Given the description of an element on the screen output the (x, y) to click on. 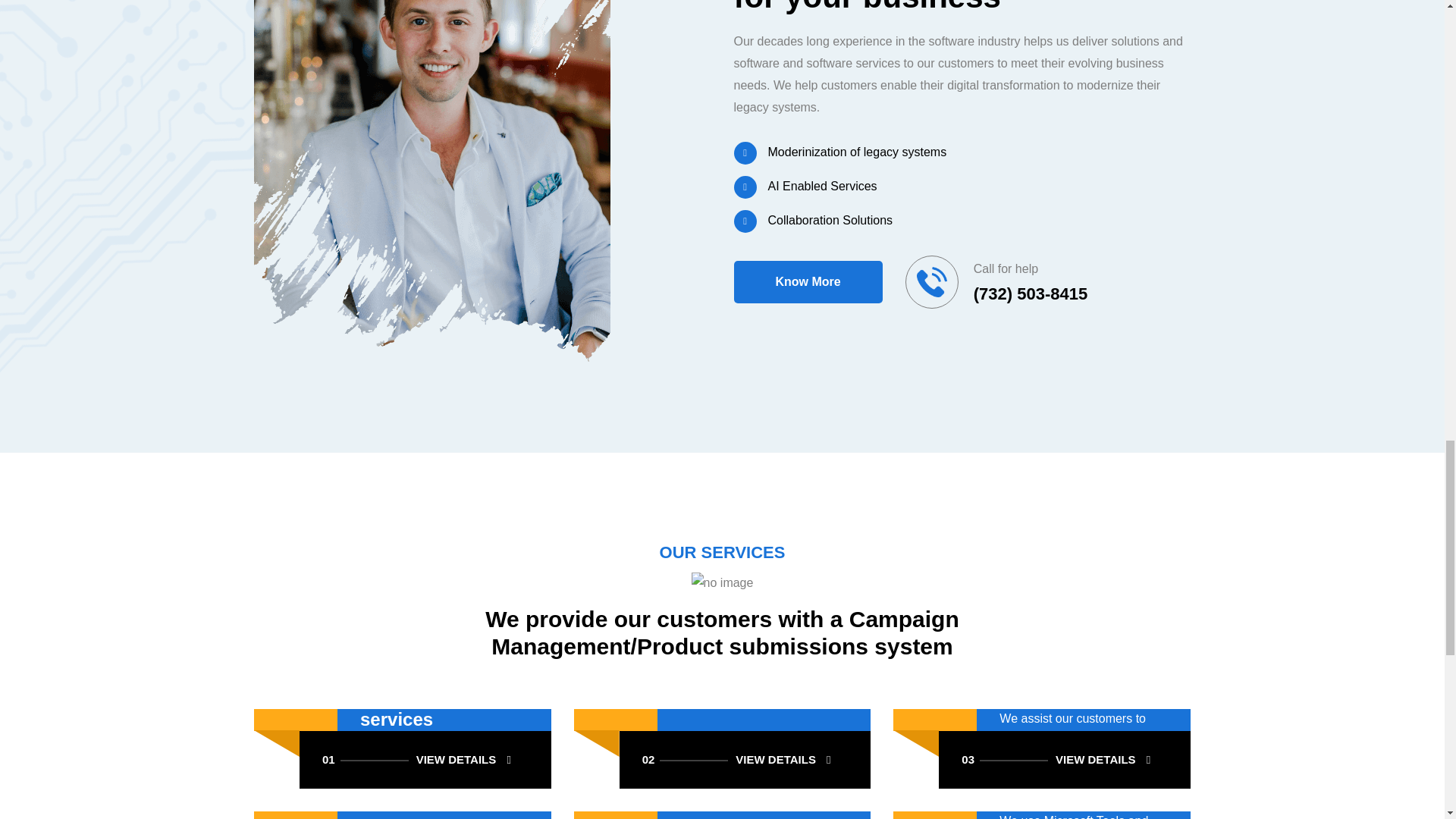
Know More (745, 759)
